Given the description of an element on the screen output the (x, y) to click on. 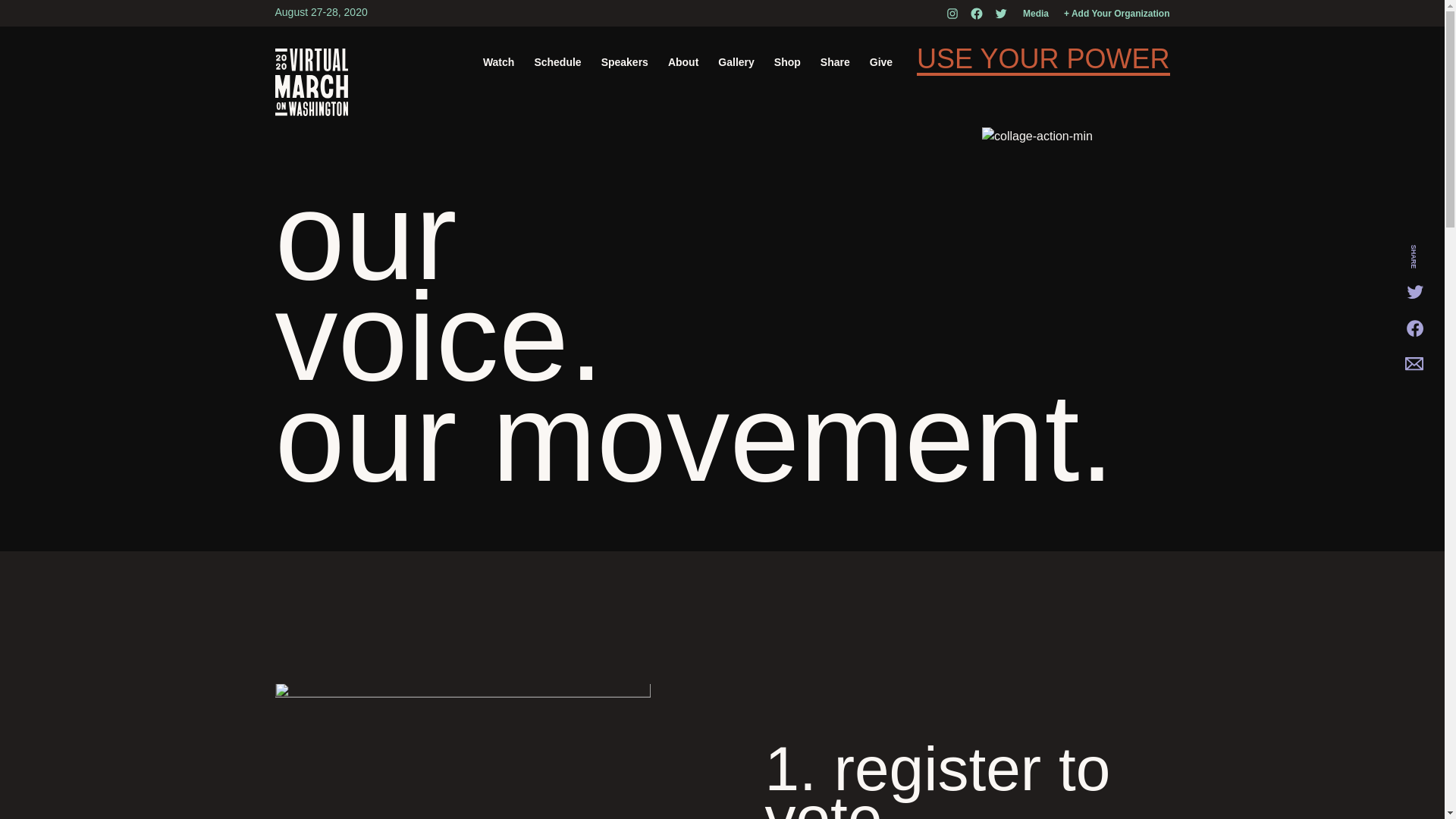
Instagram Element type: text (952, 13)
Give Element type: text (880, 62)
Share this page via Email Element type: text (1417, 363)
Share this page on Twitter Element type: text (1417, 291)
Twitter Element type: text (1000, 13)
Speakers Element type: text (624, 62)
2020 Virtual March On Washington Element type: text (310, 82)
Schedule Element type: text (556, 62)
Share this page on Facebook Element type: text (1417, 327)
Facebook Element type: text (976, 13)
Shop Element type: text (787, 62)
USE YOUR POWER Element type: text (1042, 61)
+ Add Your Organization Element type: text (1116, 13)
Gallery Element type: text (735, 62)
About Element type: text (683, 62)
Share Element type: text (835, 62)
Media Element type: text (1035, 13)
Watch Element type: text (498, 62)
